Given the description of an element on the screen output the (x, y) to click on. 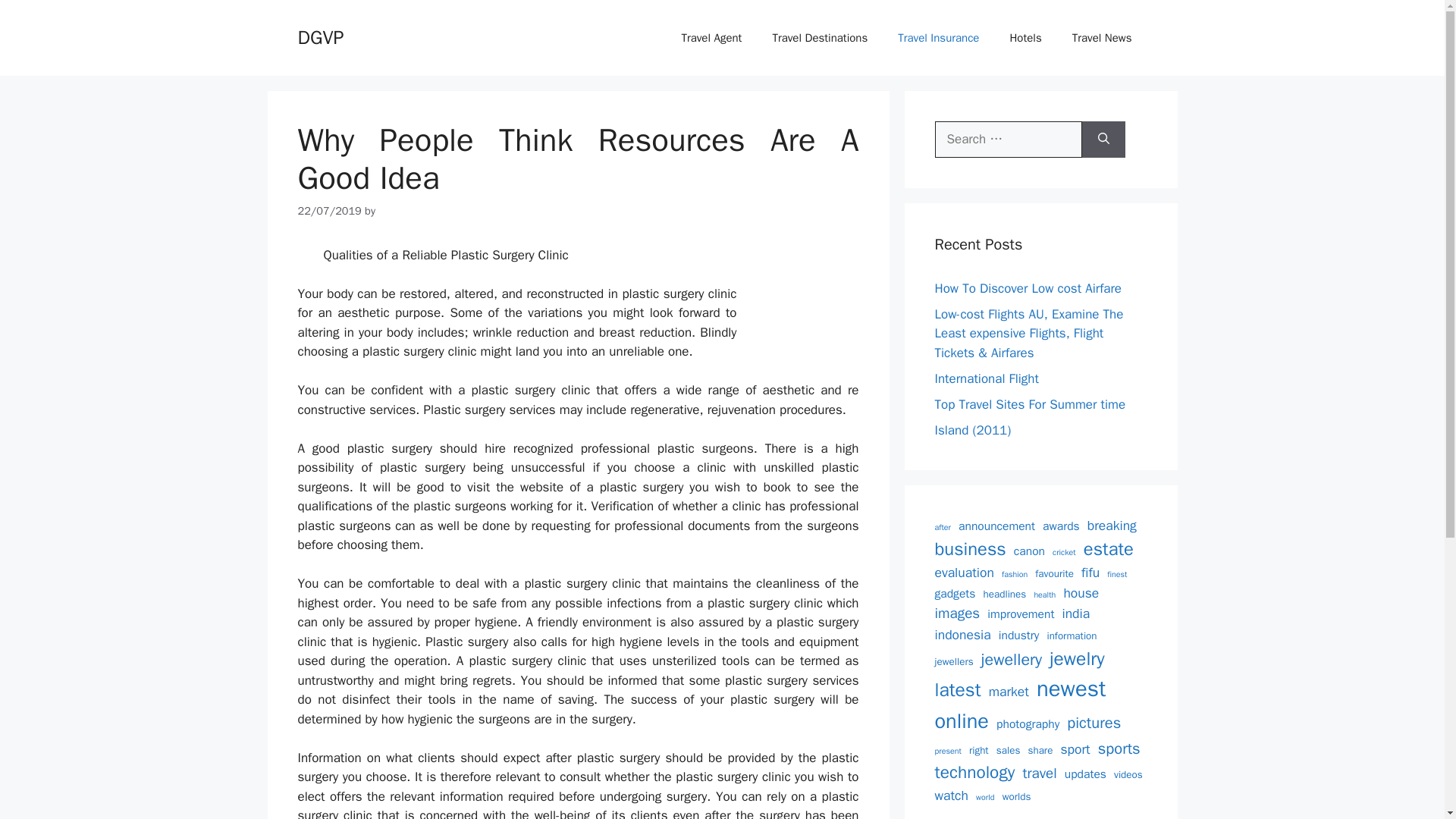
cricket (1063, 551)
evaluation (963, 572)
finest (1116, 574)
Travel Insurance (938, 37)
Search for: (1007, 139)
Travel Agent (711, 37)
How To Discover Low cost Airfare (1027, 288)
Top Travel Sites For Summer time (1029, 403)
fifu (1090, 572)
gadgets (954, 593)
fashion (1014, 574)
International Flight (986, 377)
headlines (1005, 594)
images (956, 613)
awards (1061, 526)
